Given the description of an element on the screen output the (x, y) to click on. 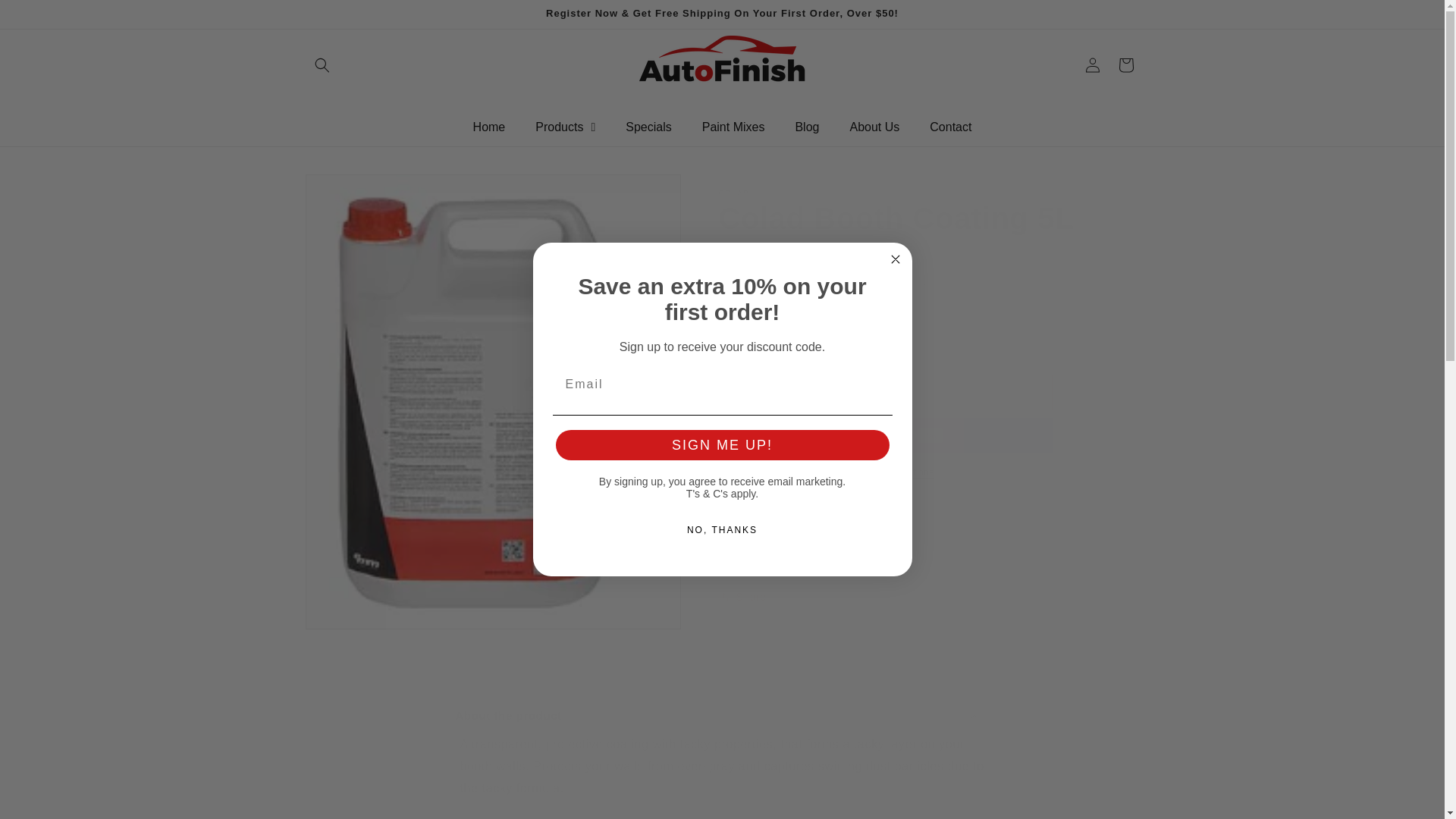
1 (773, 337)
Skip to content (45, 17)
